Given the description of an element on the screen output the (x, y) to click on. 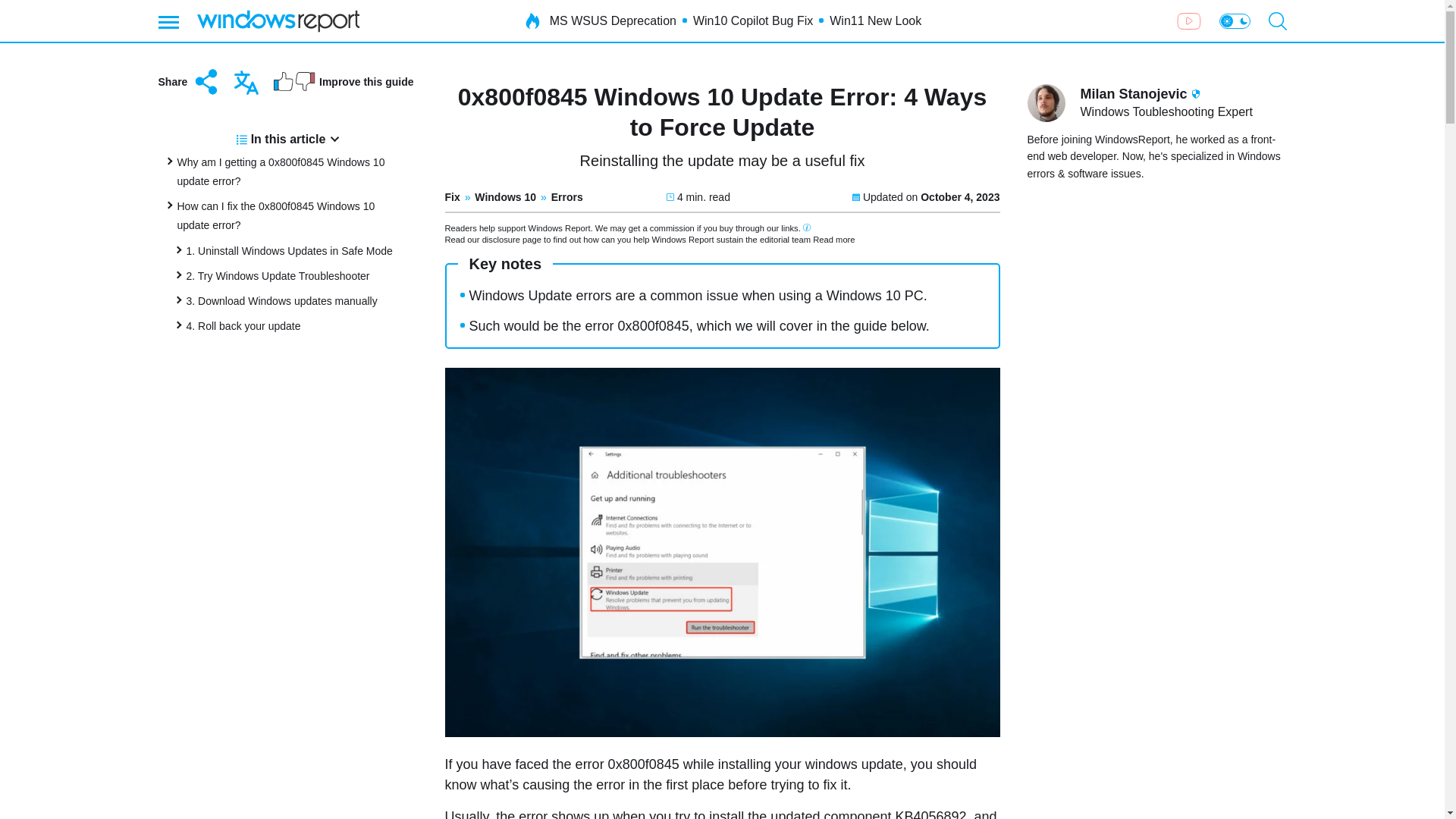
2. Try Windows Update Troubleshooter (277, 275)
How can I fix the 0x800f0845 Windows 10 update error? (276, 214)
Share this article (189, 81)
1. Uninstall Windows Updates in Safe Mode (289, 250)
MS WSUS Deprecation (613, 21)
Share (189, 81)
Open search bar (1276, 21)
Win11 New Look (875, 21)
Why am I getting a 0x800f0845 Windows 10 update error? (281, 171)
Win10 Copilot Bug Fix (752, 21)
